Given the description of an element on the screen output the (x, y) to click on. 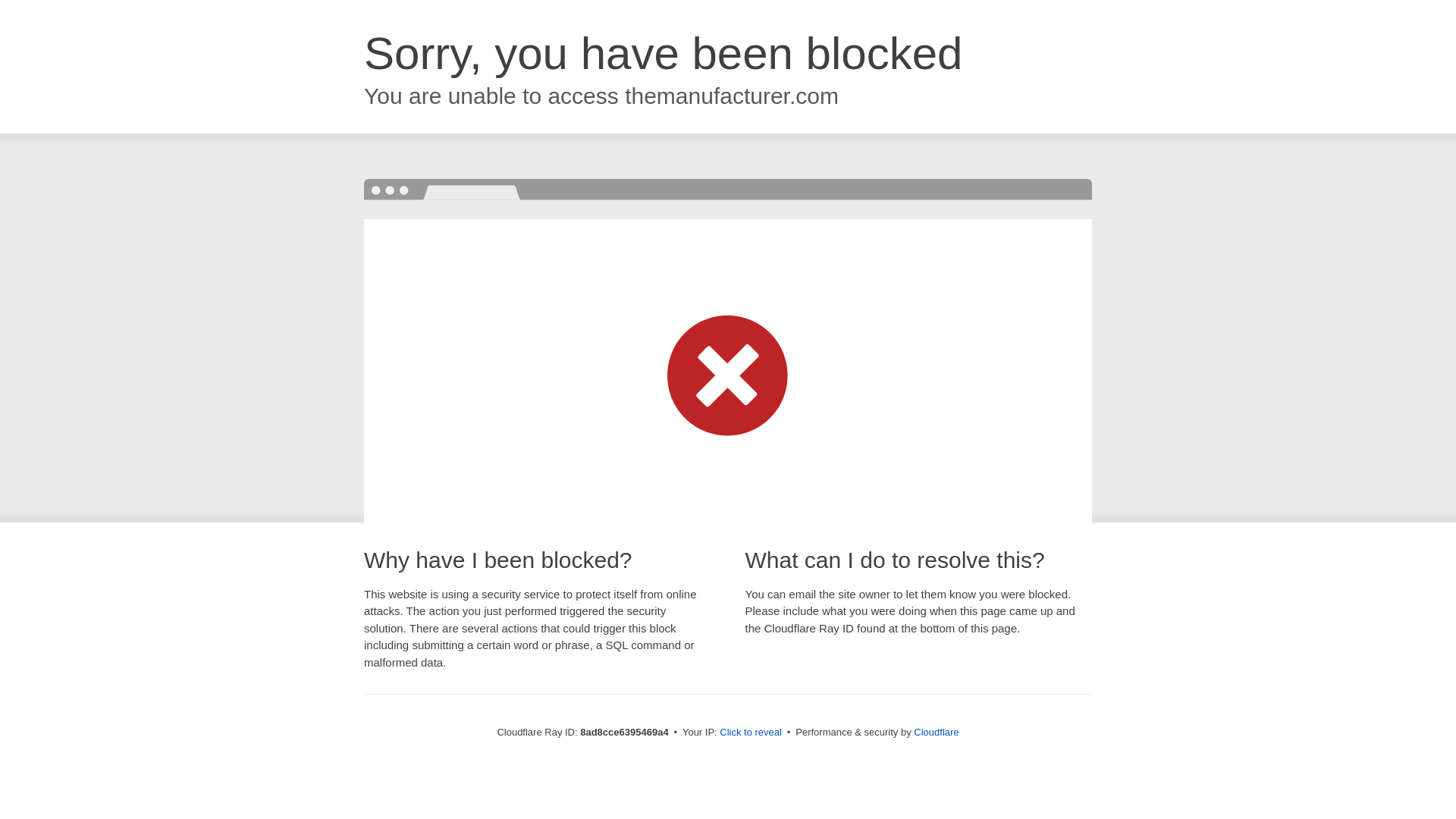
Click to reveal (750, 732)
Cloudflare (936, 731)
